Given the description of an element on the screen output the (x, y) to click on. 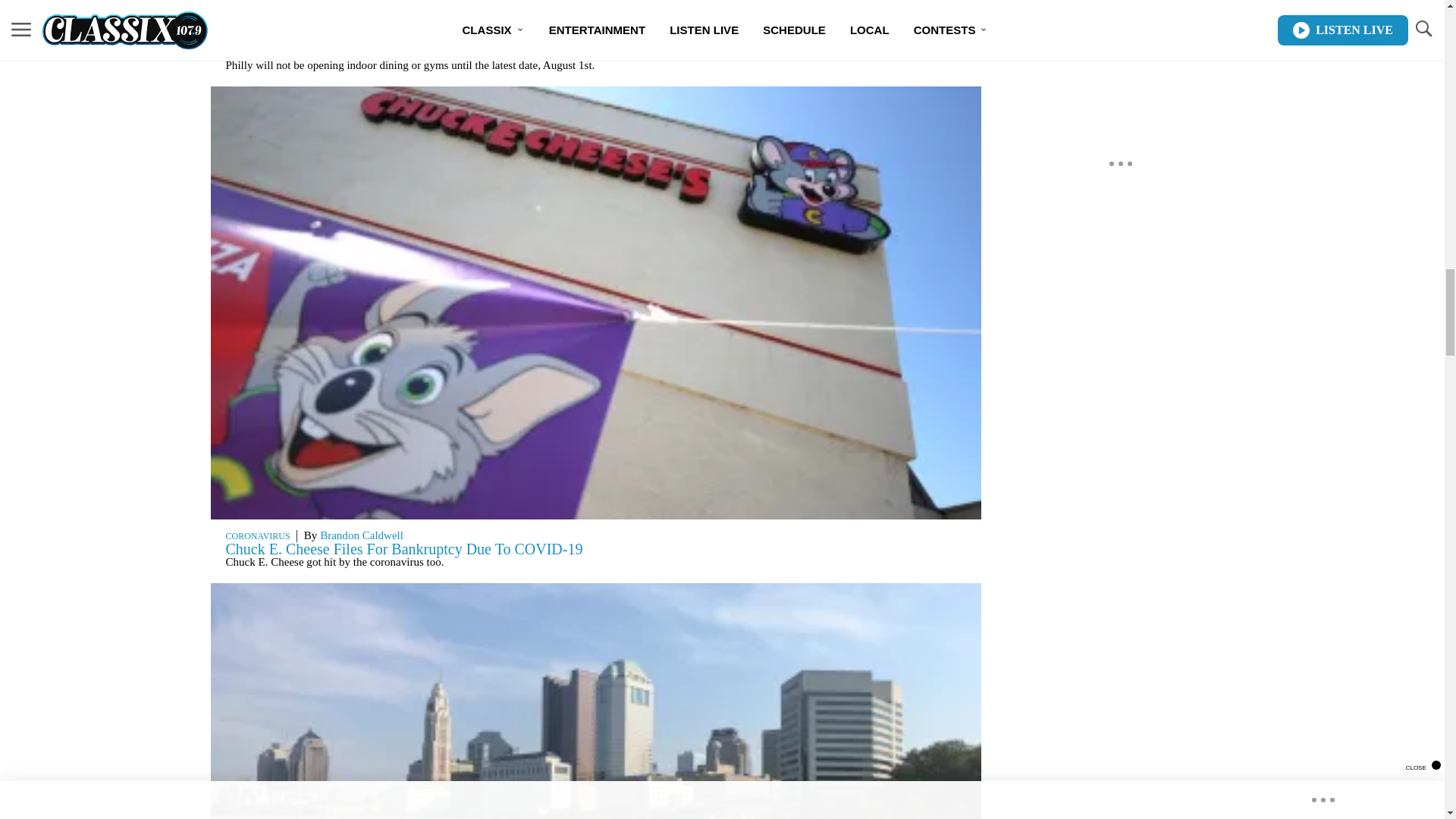
CORONAVIRUS (257, 535)
Brandon Caldwell (361, 535)
Weso (332, 38)
Chuck E. Cheese Files For Bankruptcy Due To COVID-19 (404, 548)
CORONAVIRUS (257, 39)
